Given the description of an element on the screen output the (x, y) to click on. 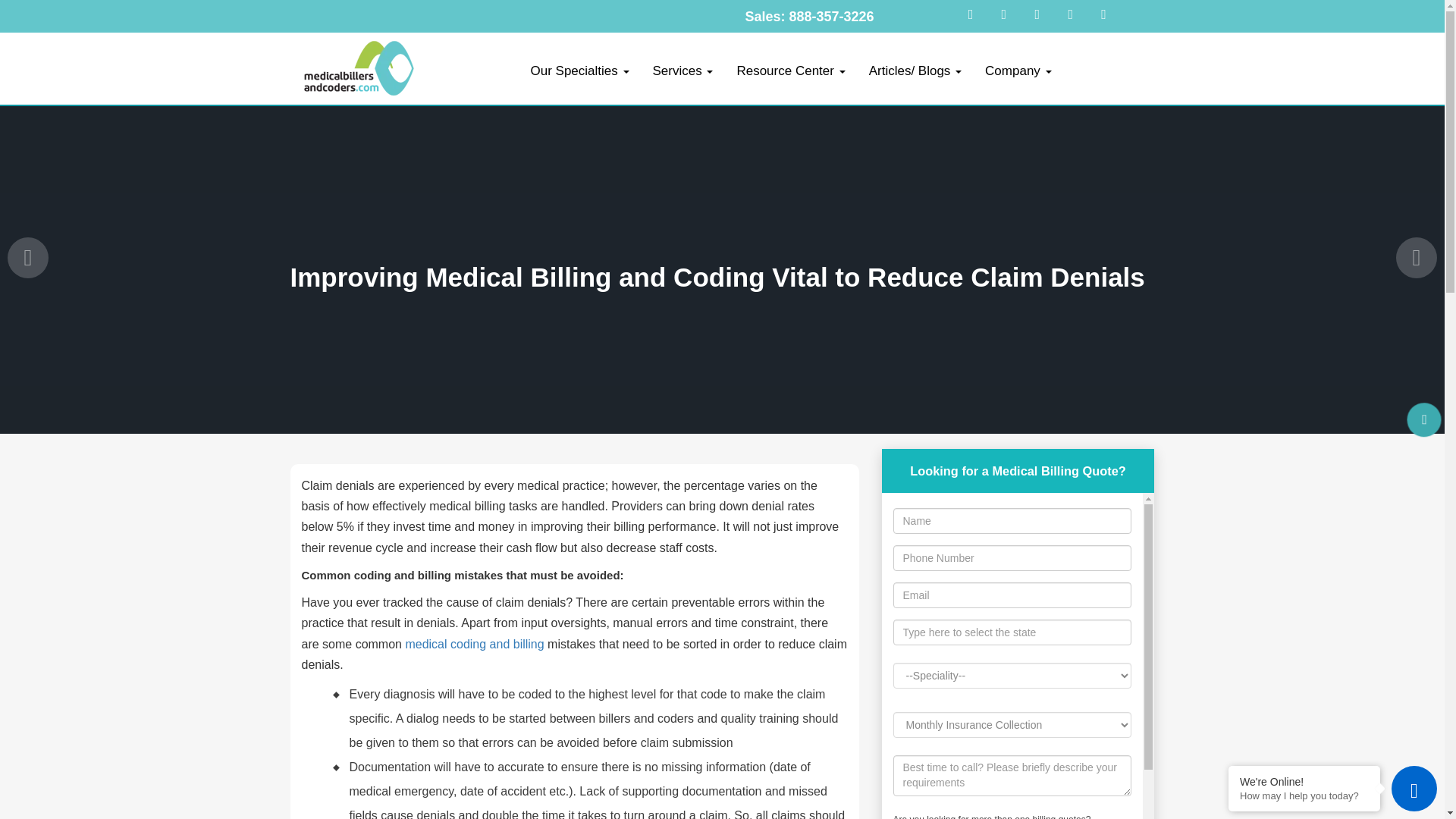
Services (681, 71)
Our Specialties (579, 71)
Sales: 888-357-3226 (808, 16)
